Given the description of an element on the screen output the (x, y) to click on. 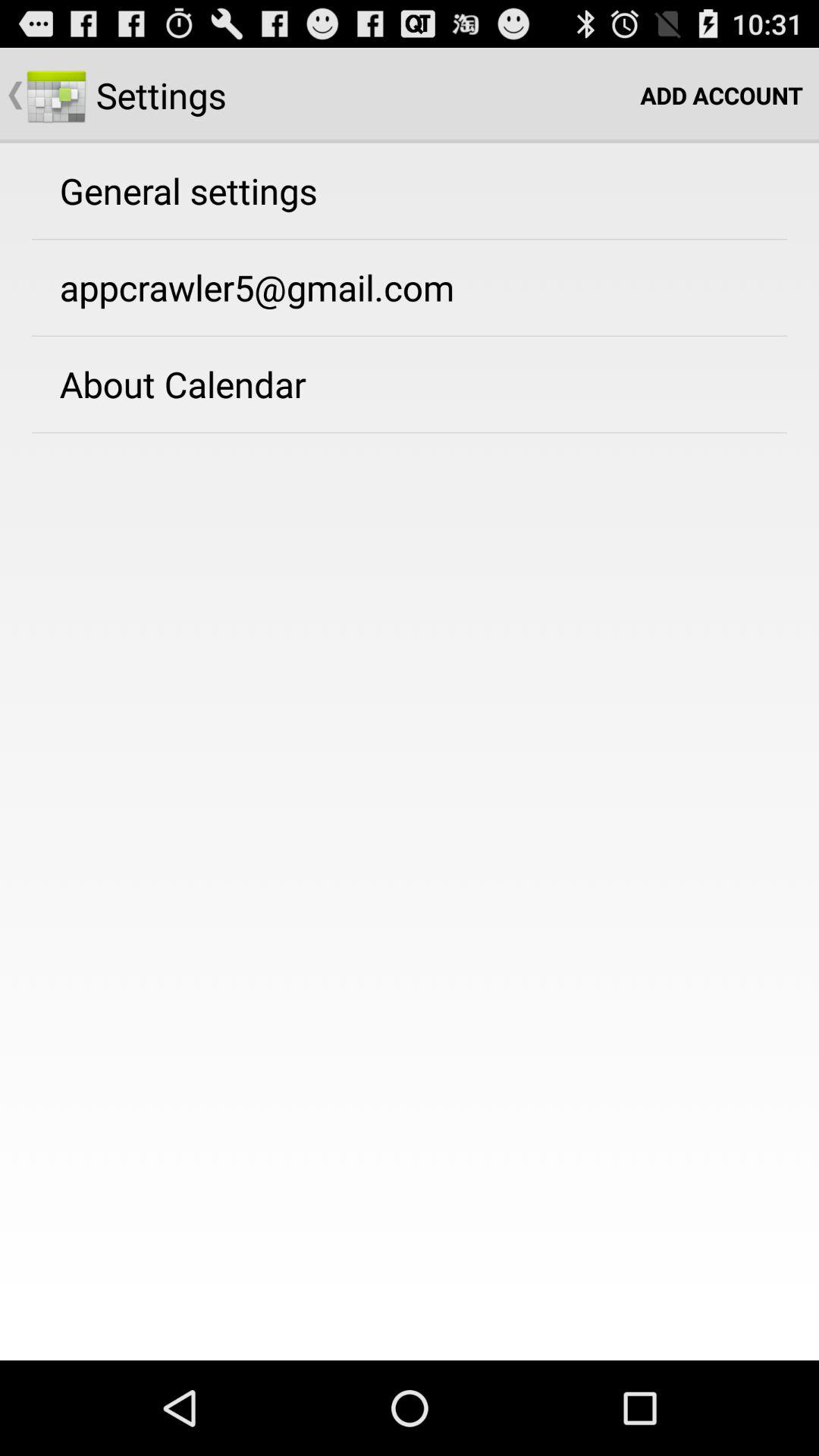
launch about calendar app (182, 384)
